Given the description of an element on the screen output the (x, y) to click on. 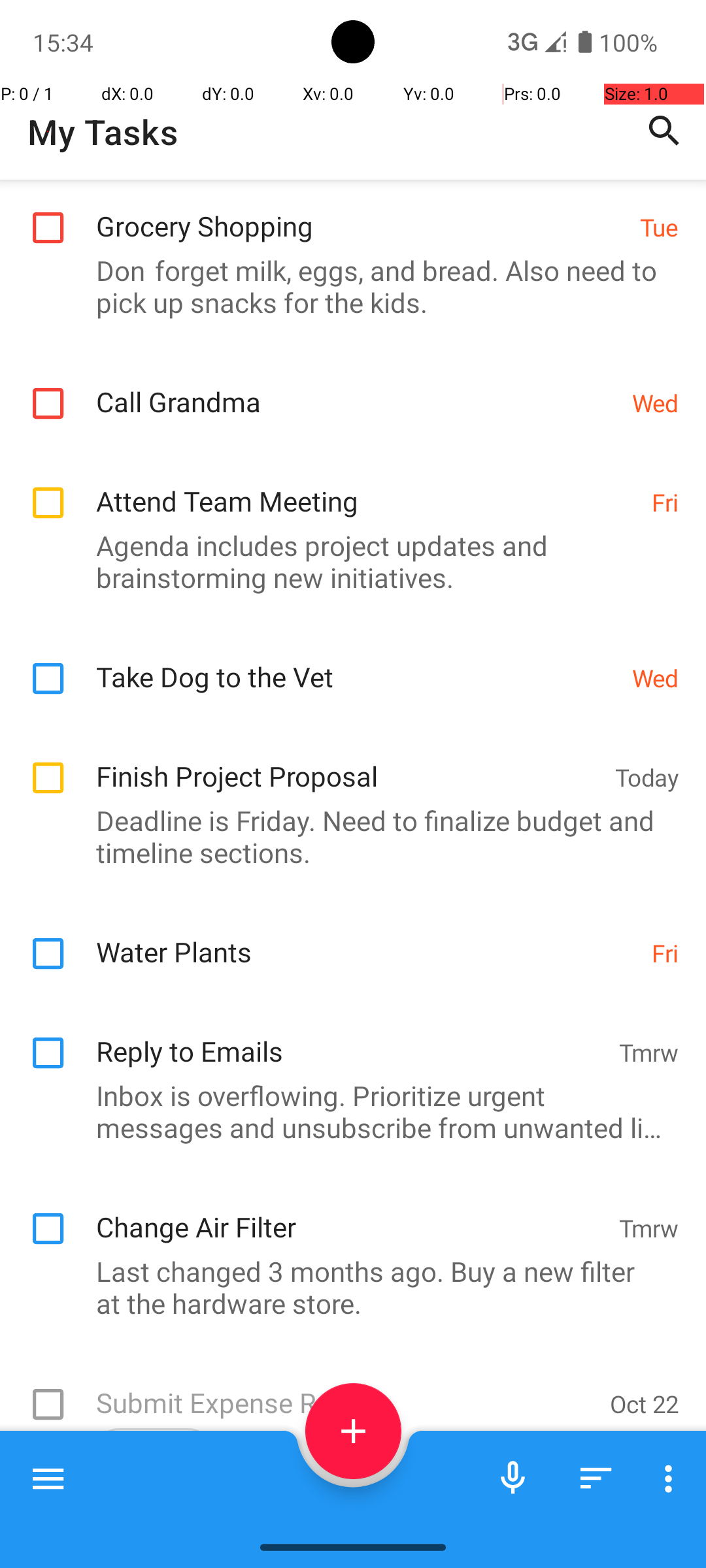
Grocery Shopping Element type: android.widget.TextView (361, 211)
Don	 forget milk, eggs, and bread. Also need to pick up snacks for the kids. Element type: android.widget.TextView (346, 285)
Call Grandma Element type: android.widget.TextView (357, 387)
Attend Team Meeting Element type: android.widget.TextView (367, 486)
Agenda includes project updates and brainstorming new initiatives. Element type: android.widget.TextView (346, 560)
Take Dog to the Vet Element type: android.widget.TextView (357, 662)
Finish Project Proposal Element type: android.widget.TextView (348, 761)
Deadline is Friday. Need to finalize budget and timeline sections. Element type: android.widget.TextView (346, 835)
Water Plants Element type: android.widget.TextView (367, 937)
Reply to Emails Element type: android.widget.TextView (350, 1036)
Inbox is overflowing. Prioritize urgent messages and unsubscribe from unwanted lists. Element type: android.widget.TextView (346, 1110)
Tmrw Element type: android.widget.TextView (648, 1051)
Change Air Filter Element type: android.widget.TextView (350, 1212)
Last changed 3 months ago. Buy a new filter at the hardware store. Element type: android.widget.TextView (346, 1286)
Submit Expense Report Element type: android.widget.TextView (346, 1388)
Oct 22 Element type: android.widget.TextView (644, 1403)
Submit Budget Report Element type: android.widget.TextView (346, 1513)
Oct 29 Element type: android.widget.TextView (644, 1514)
